Given the description of an element on the screen output the (x, y) to click on. 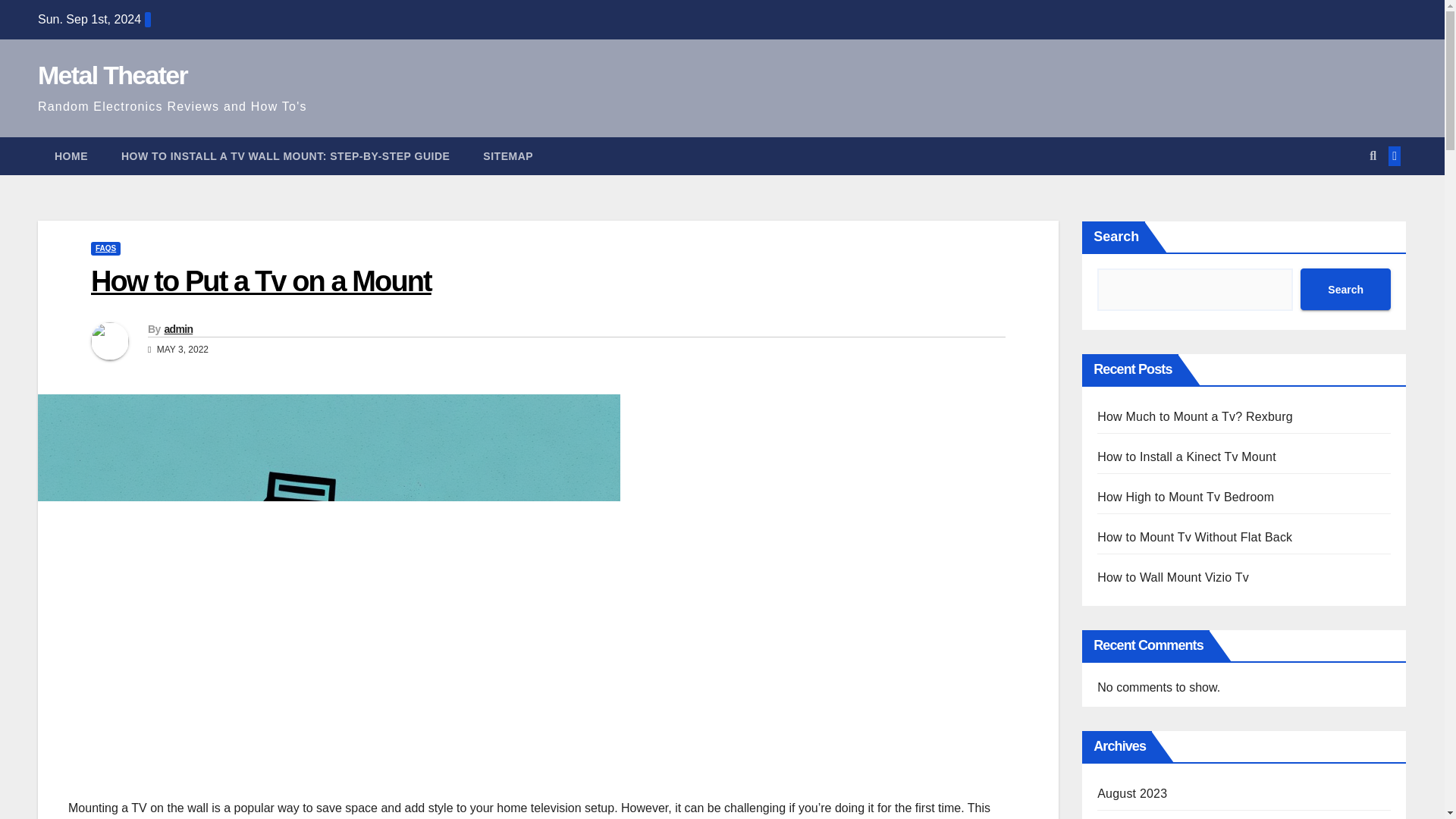
HOME (70, 156)
admin (177, 328)
Metal Theater (112, 74)
Permalink to: How to Put a Tv on a Mount (260, 281)
Home (70, 156)
HOW TO INSTALL A TV WALL MOUNT: STEP-BY-STEP GUIDE (284, 156)
How to Put a Tv on a Mount (260, 281)
SITEMAP (507, 156)
FAQS (105, 248)
